Given the description of an element on the screen output the (x, y) to click on. 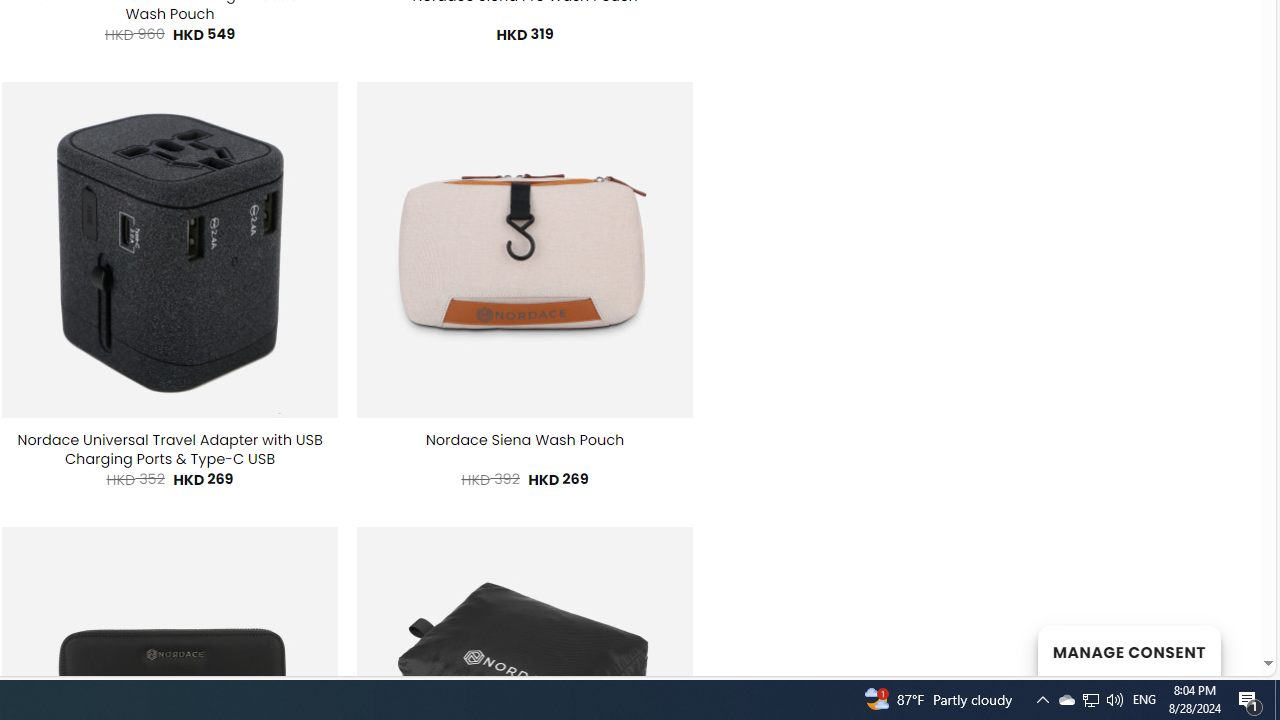
MANAGE CONSENT (1128, 650)
Nordace Siena Wash Pouch (524, 440)
